Given the description of an element on the screen output the (x, y) to click on. 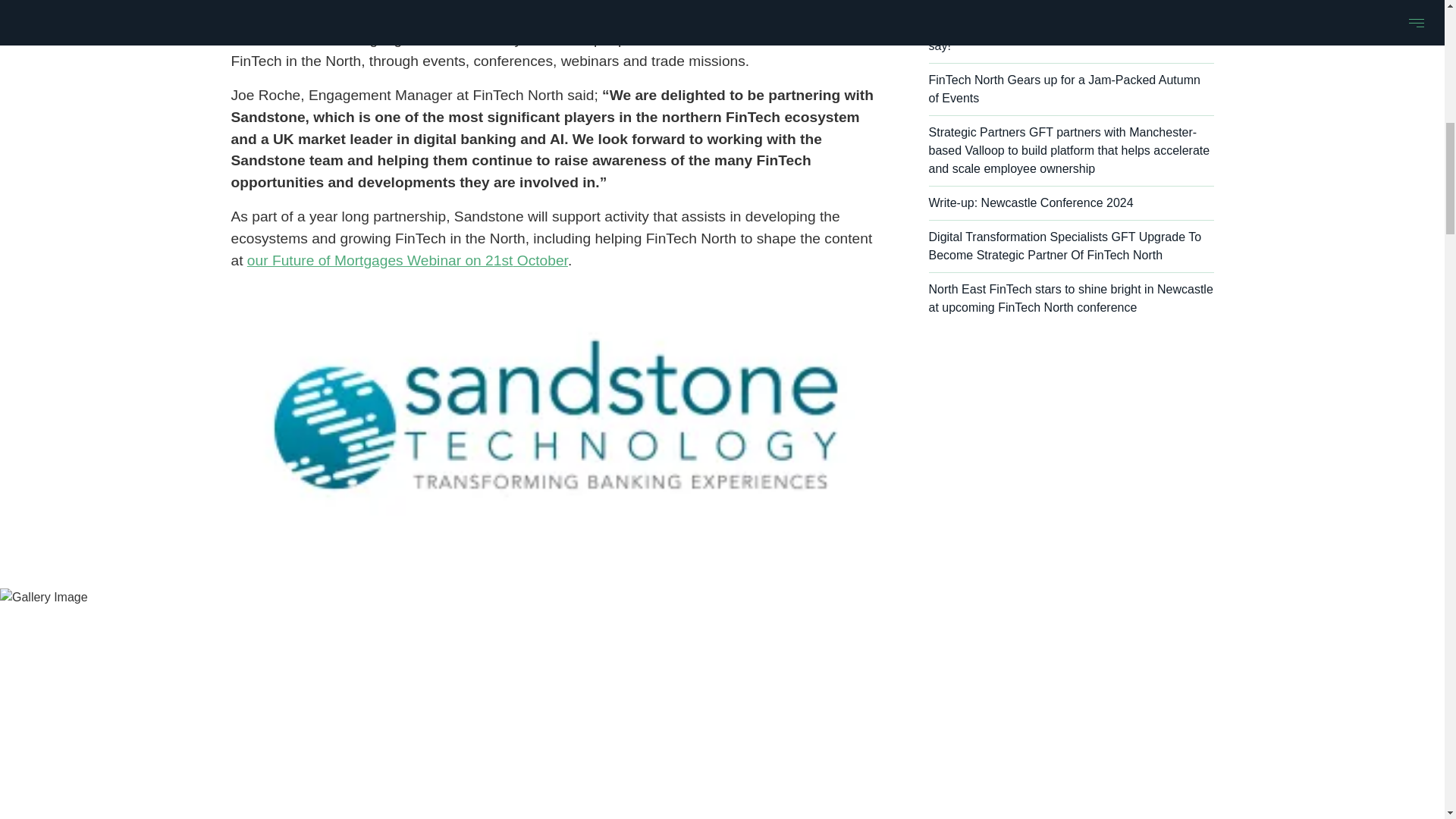
FinTech North Gears up for a Jam-Packed Autumn of Events (1071, 89)
our Future of Mortgages Webinar on 21st October (407, 260)
Write-up: Newcastle Conference 2024 (1071, 203)
